Given the description of an element on the screen output the (x, y) to click on. 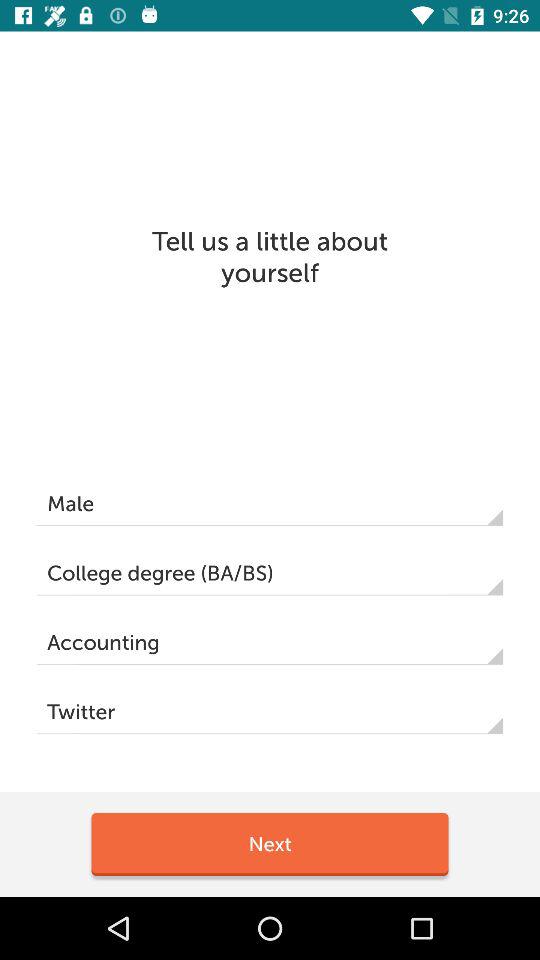
click the item below the twitter (269, 844)
